Given the description of an element on the screen output the (x, y) to click on. 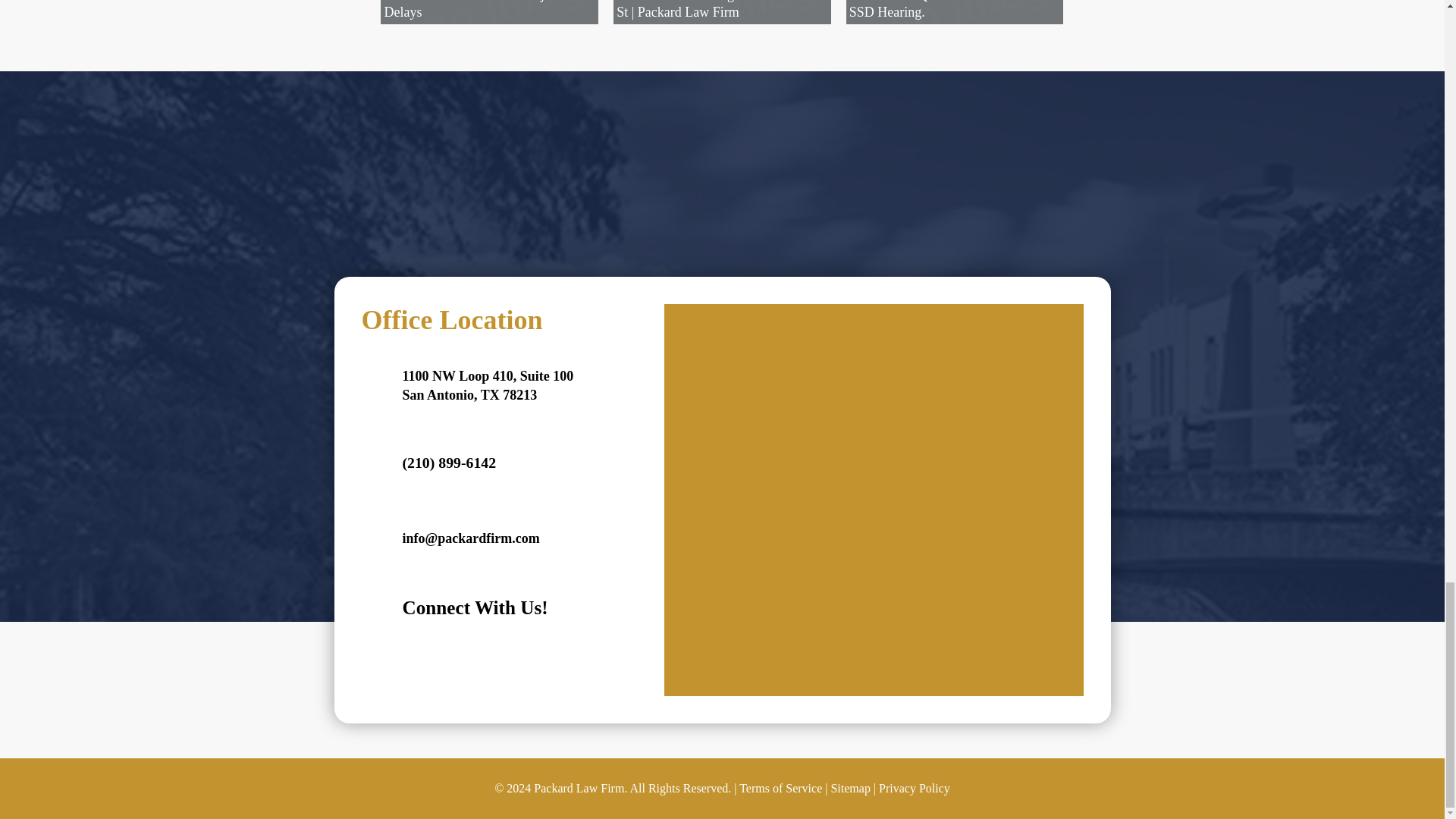
Click to activate map (873, 685)
